Given the description of an element on the screen output the (x, y) to click on. 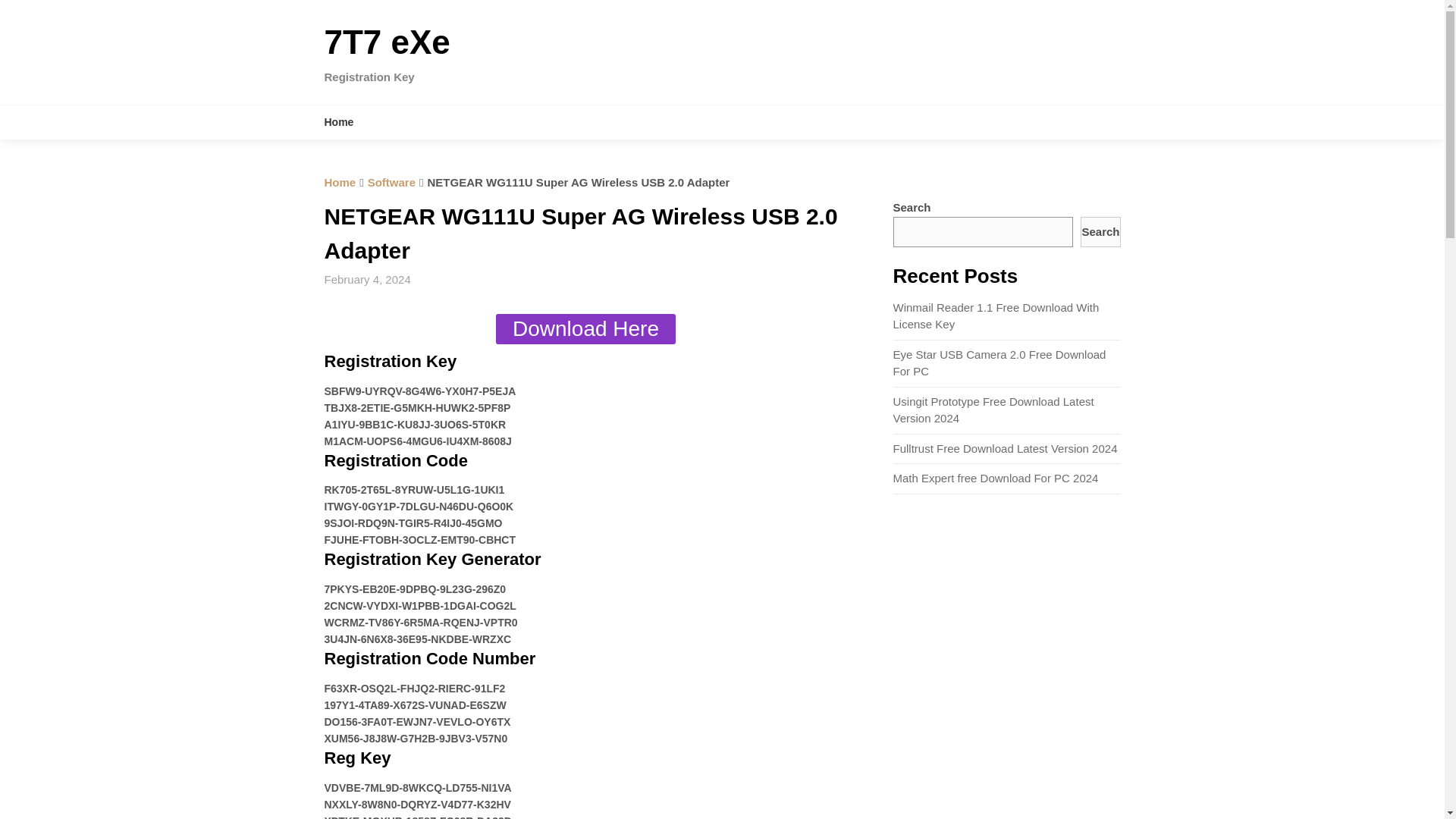
Search (1099, 232)
Eye Star USB Camera 2.0 Free Download For PC (999, 363)
Winmail Reader 1.1 Free Download With License Key (996, 316)
Math Expert free Download For PC 2024 (996, 477)
Home (340, 182)
Download Here (585, 328)
Usingit Prototype Free Download Latest Version 2024 (993, 409)
7T7 eXe (386, 41)
Software (391, 182)
Fulltrust Free Download Latest Version 2024 (1005, 448)
